Given the description of an element on the screen output the (x, y) to click on. 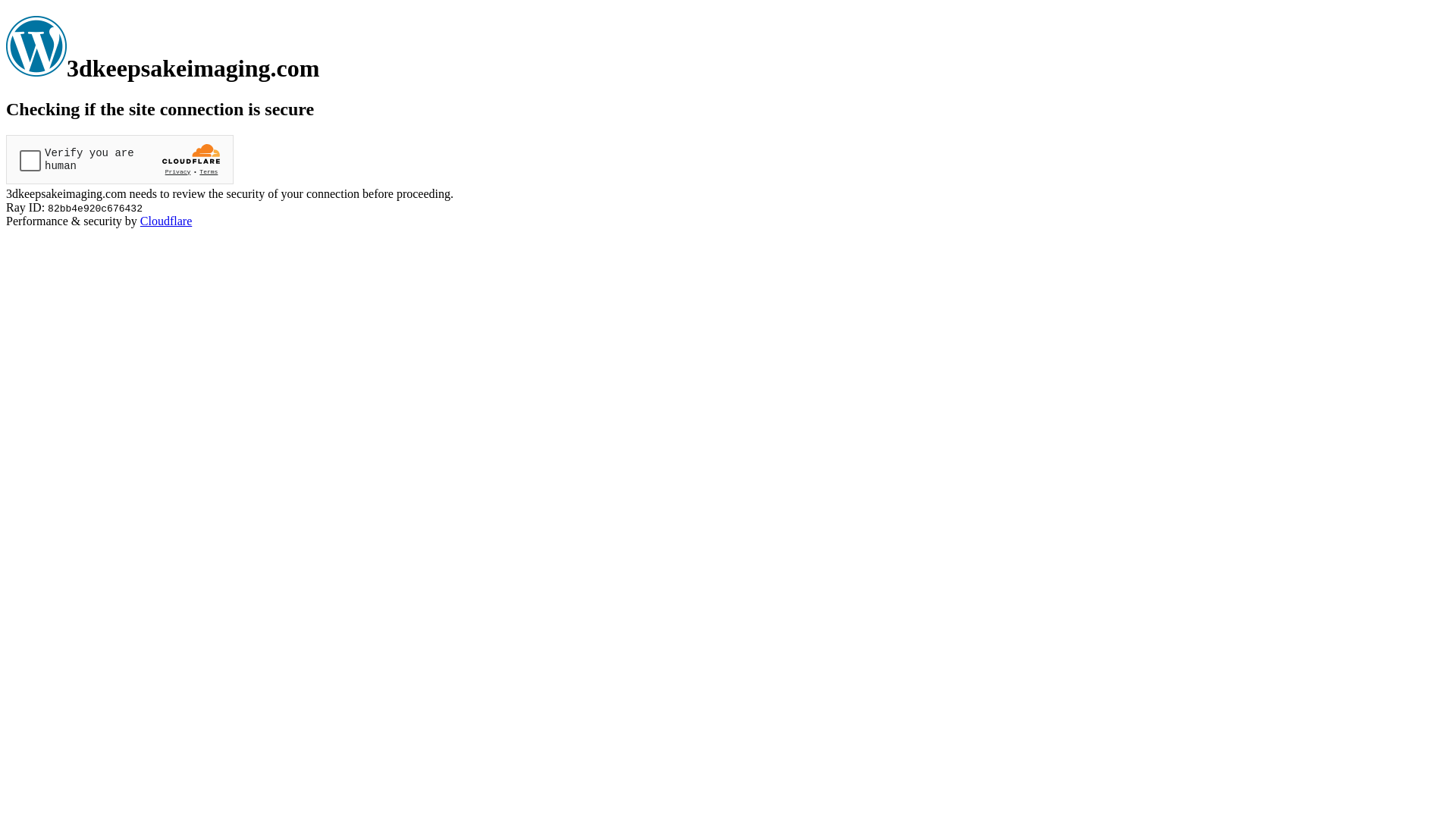
Cloudflare Element type: text (165, 220)
Widget containing a Cloudflare security challenge Element type: hover (119, 159)
